Given the description of an element on the screen output the (x, y) to click on. 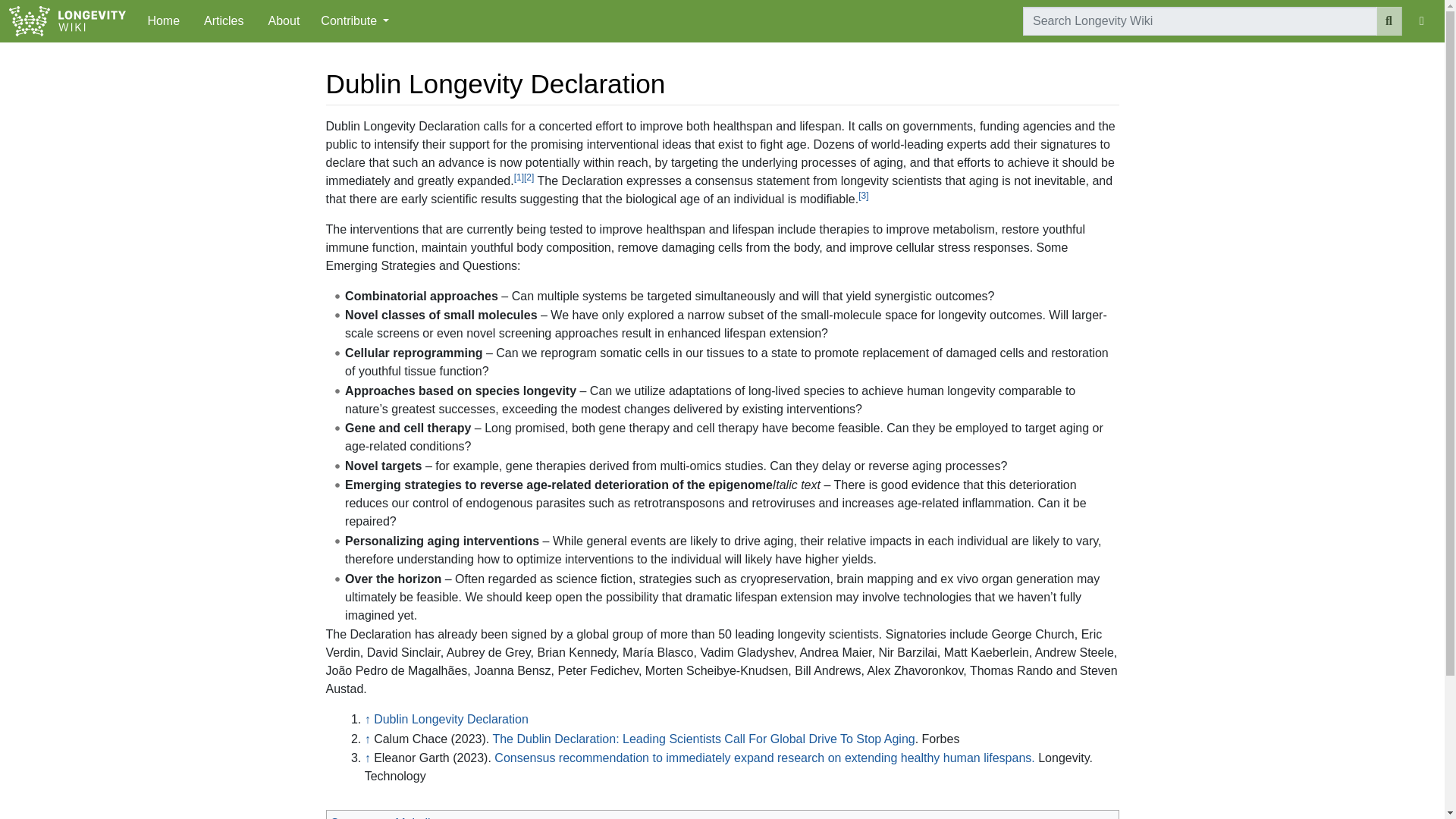
Visit the main page (66, 22)
Dublin Longevity Declaration (451, 718)
Main list (416, 817)
About (284, 20)
Go to a page with this exact name if it exists (1388, 21)
Special:Categories (355, 817)
Go (1388, 21)
Category (355, 817)
Page tools (354, 21)
